Given the description of an element on the screen output the (x, y) to click on. 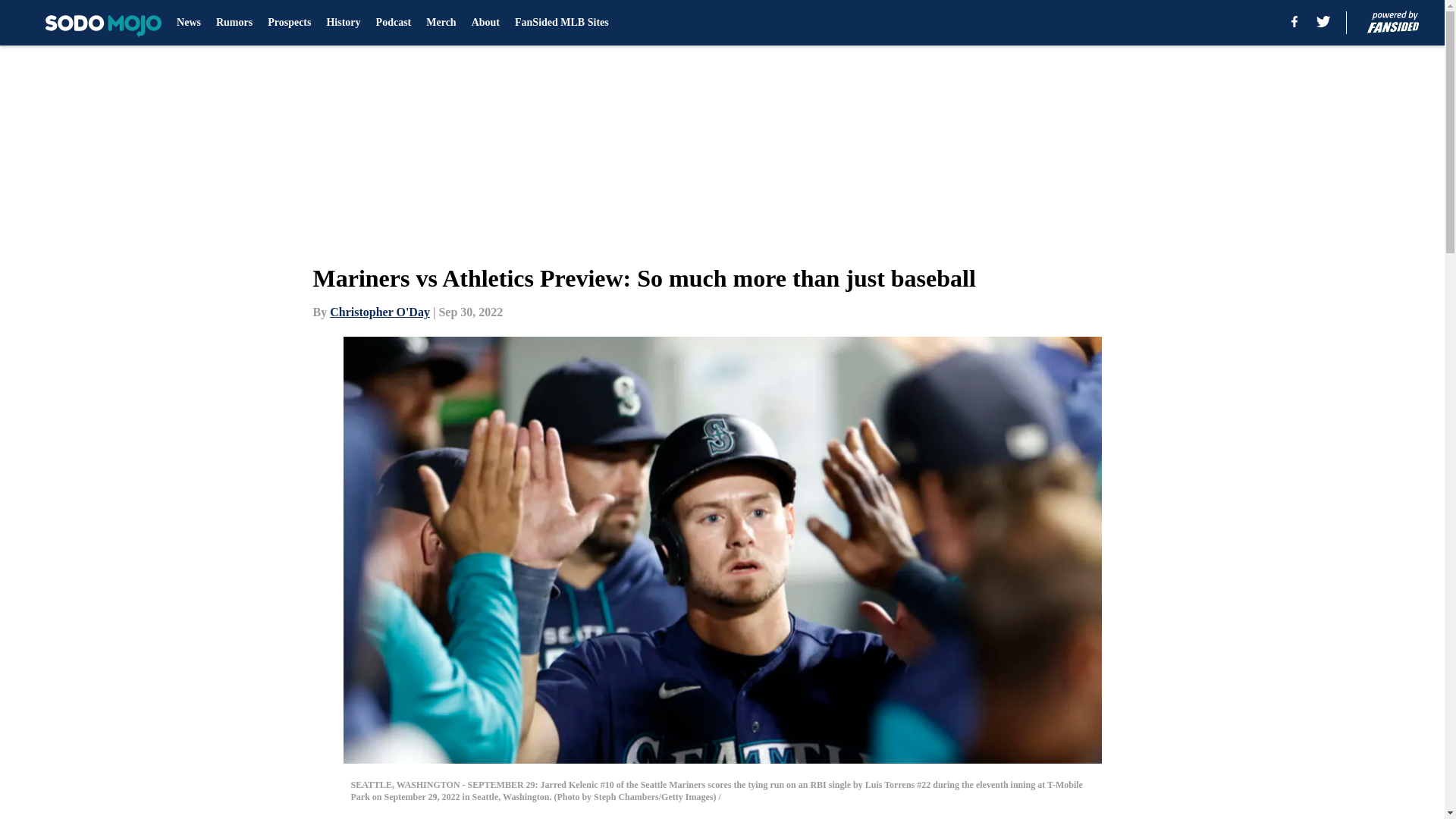
News (188, 22)
Merch (440, 22)
Prospects (289, 22)
Christopher O'Day (379, 311)
History (342, 22)
Rumors (233, 22)
Podcast (393, 22)
About (485, 22)
FanSided MLB Sites (561, 22)
